Given the description of an element on the screen output the (x, y) to click on. 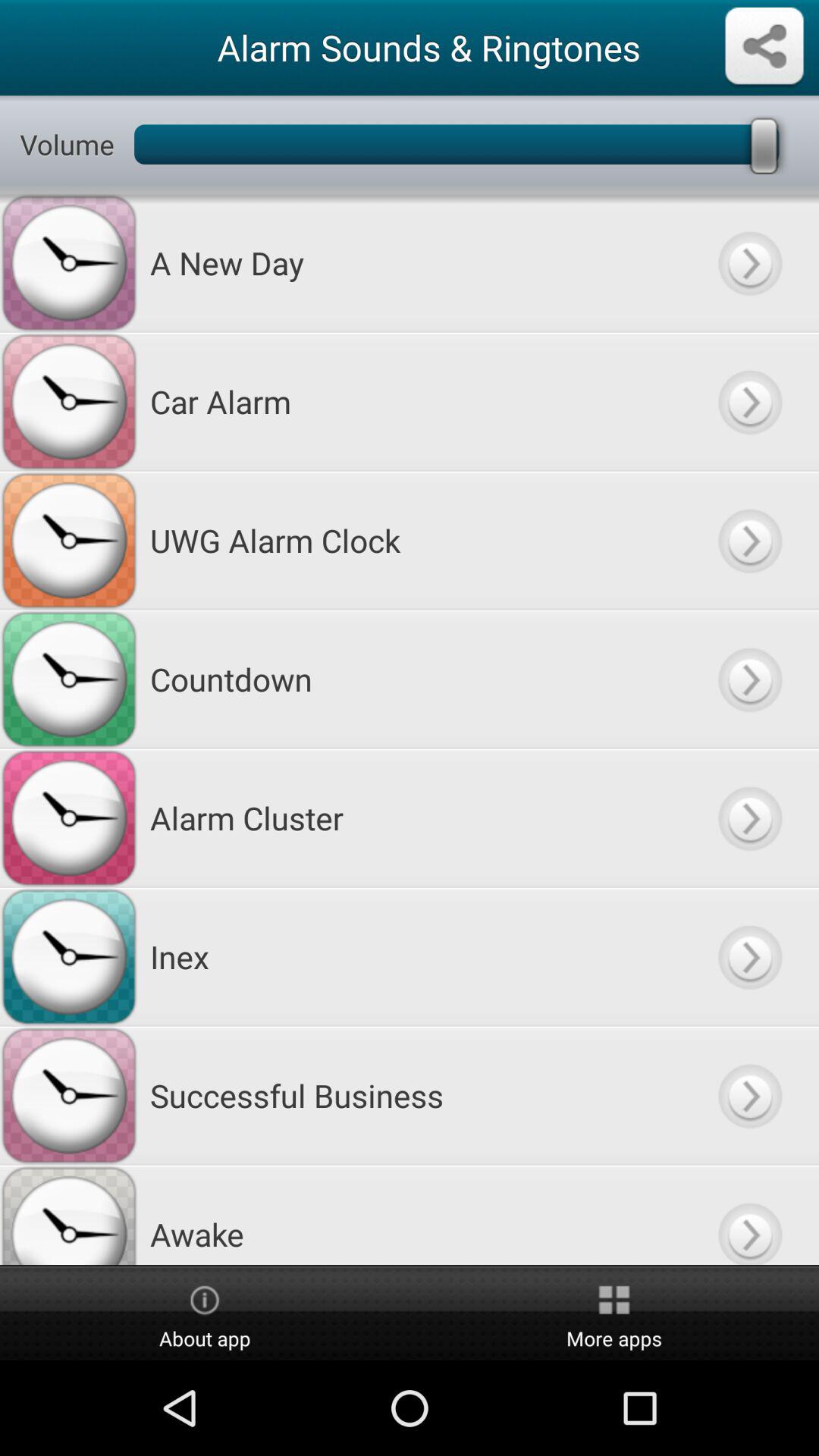
select ringtone (749, 956)
